Given the description of an element on the screen output the (x, y) to click on. 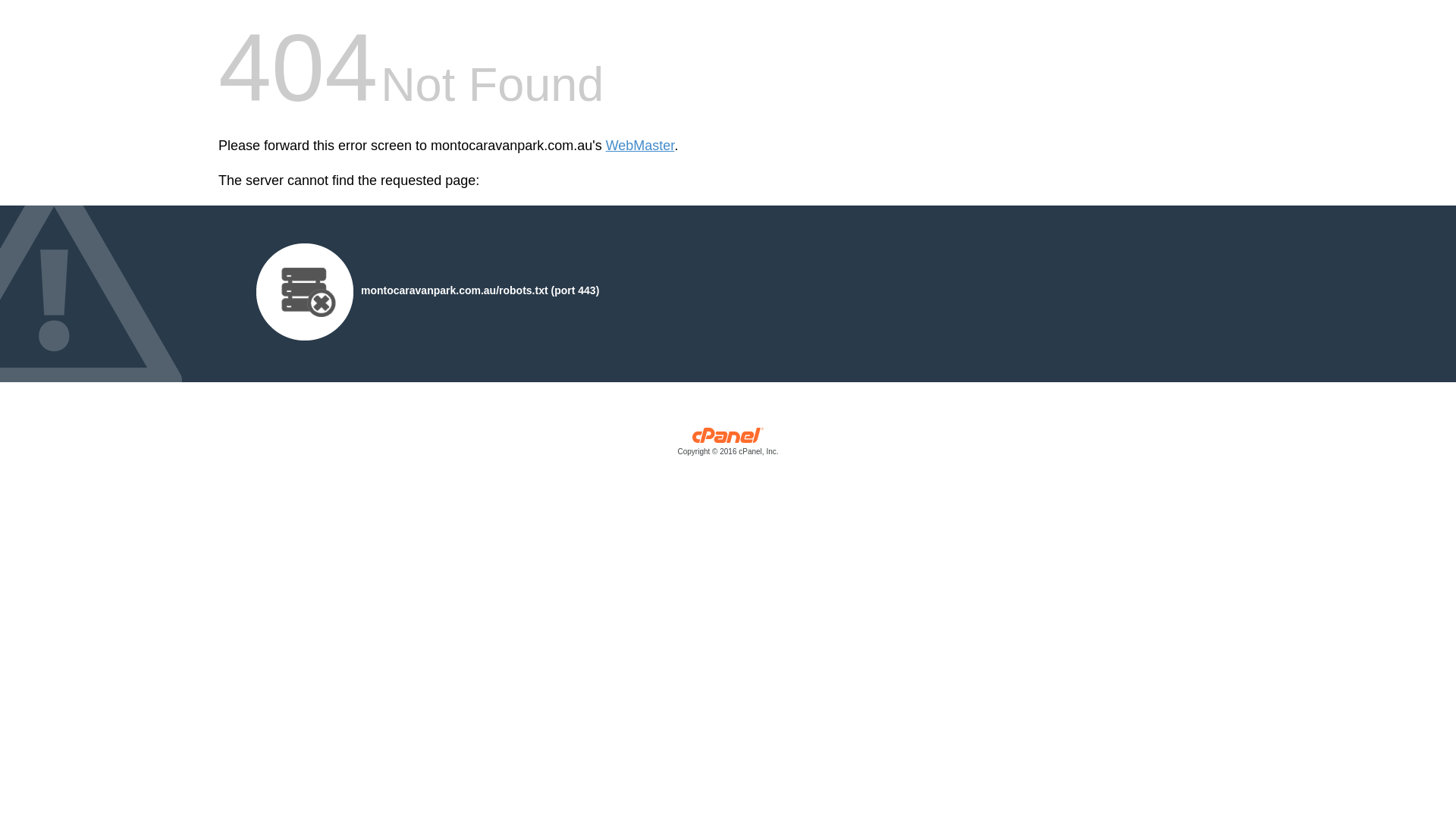
WebMaster Element type: text (639, 145)
